Given the description of an element on the screen output the (x, y) to click on. 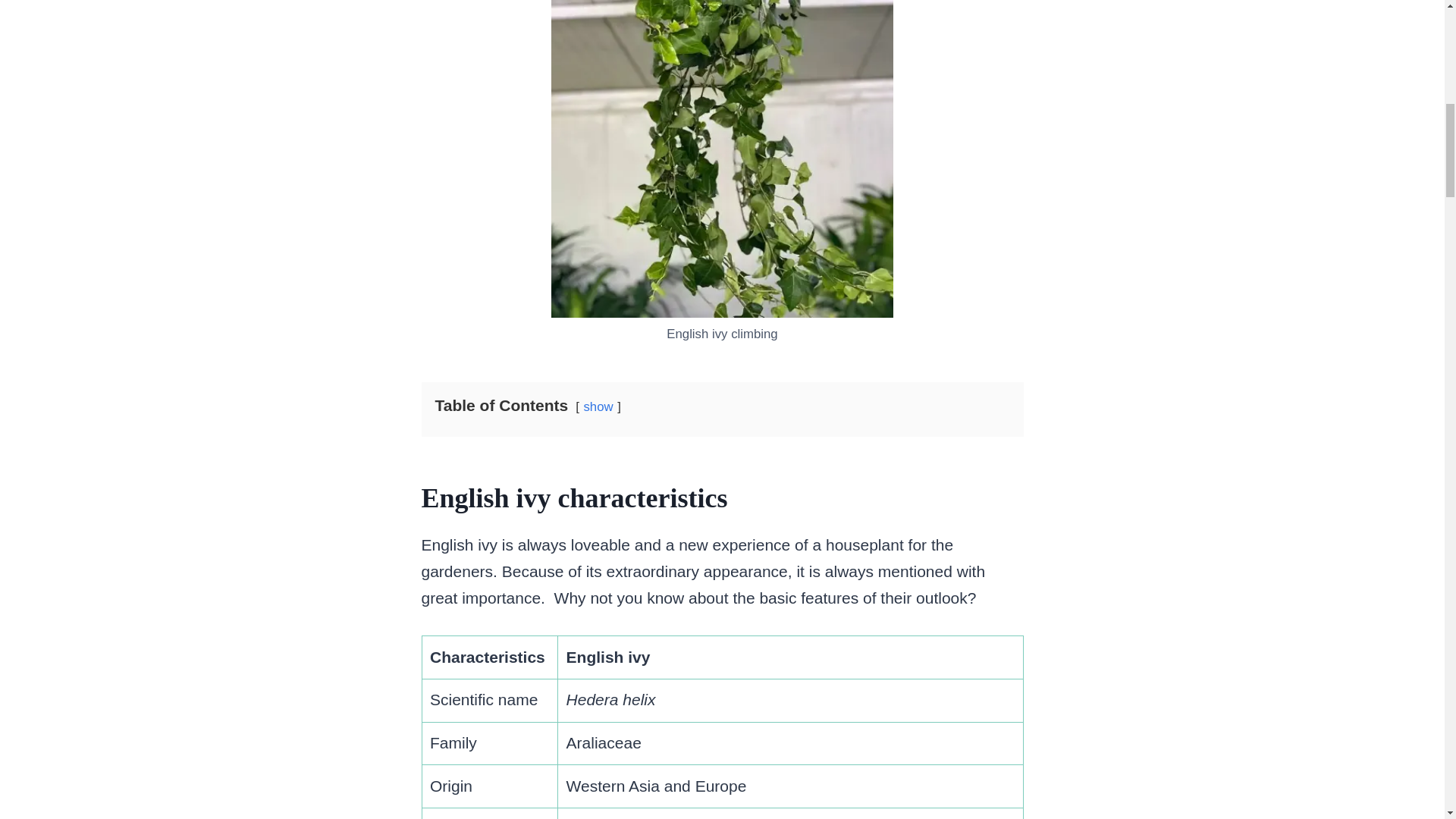
show (597, 406)
